Given the description of an element on the screen output the (x, y) to click on. 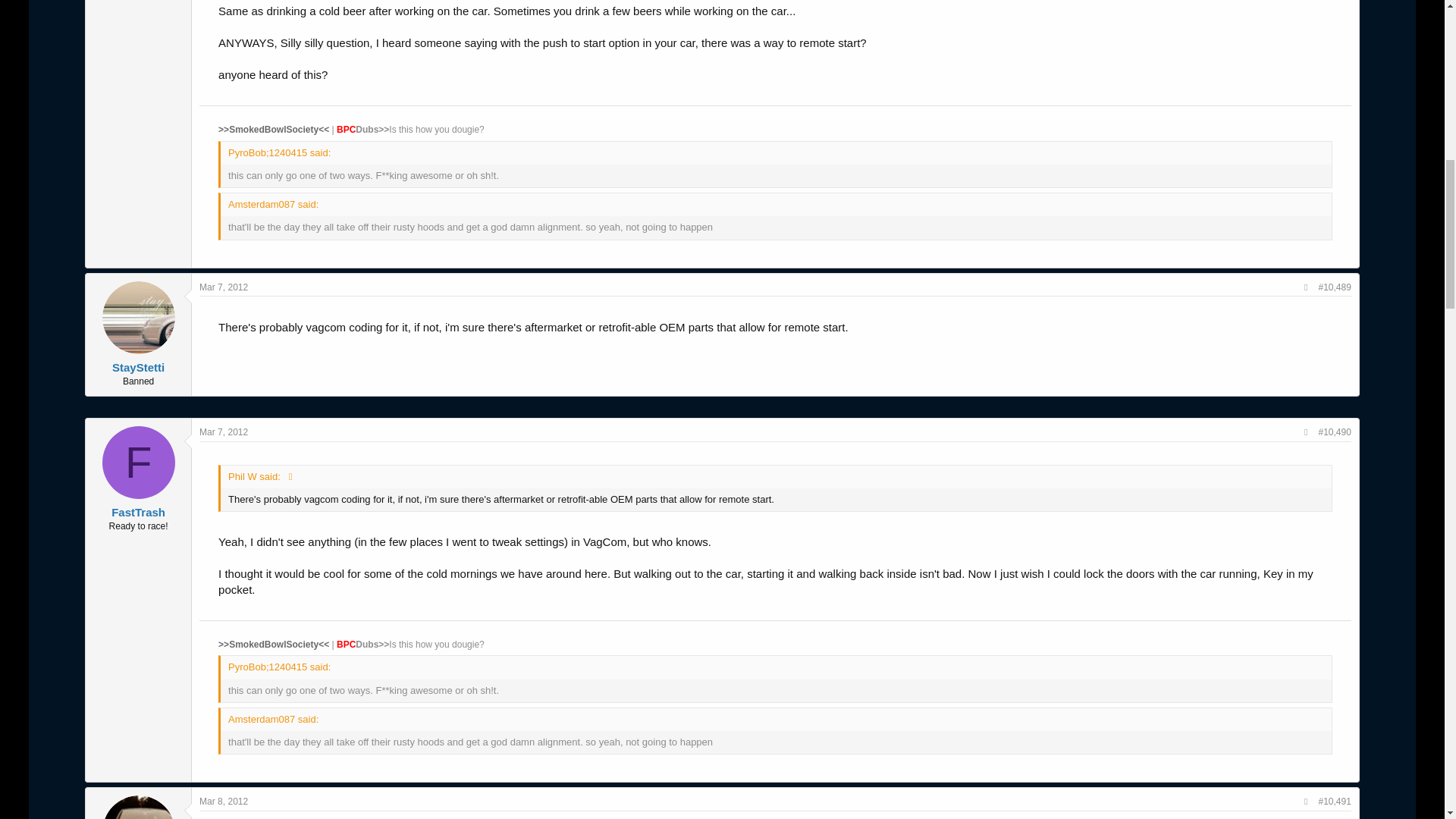
Mar 7, 2012 at 12:03 PM (223, 286)
Mar 7, 2012 at 12:58 PM (223, 431)
Mar 8, 2012 at 5:13 AM (223, 801)
